Given the description of an element on the screen output the (x, y) to click on. 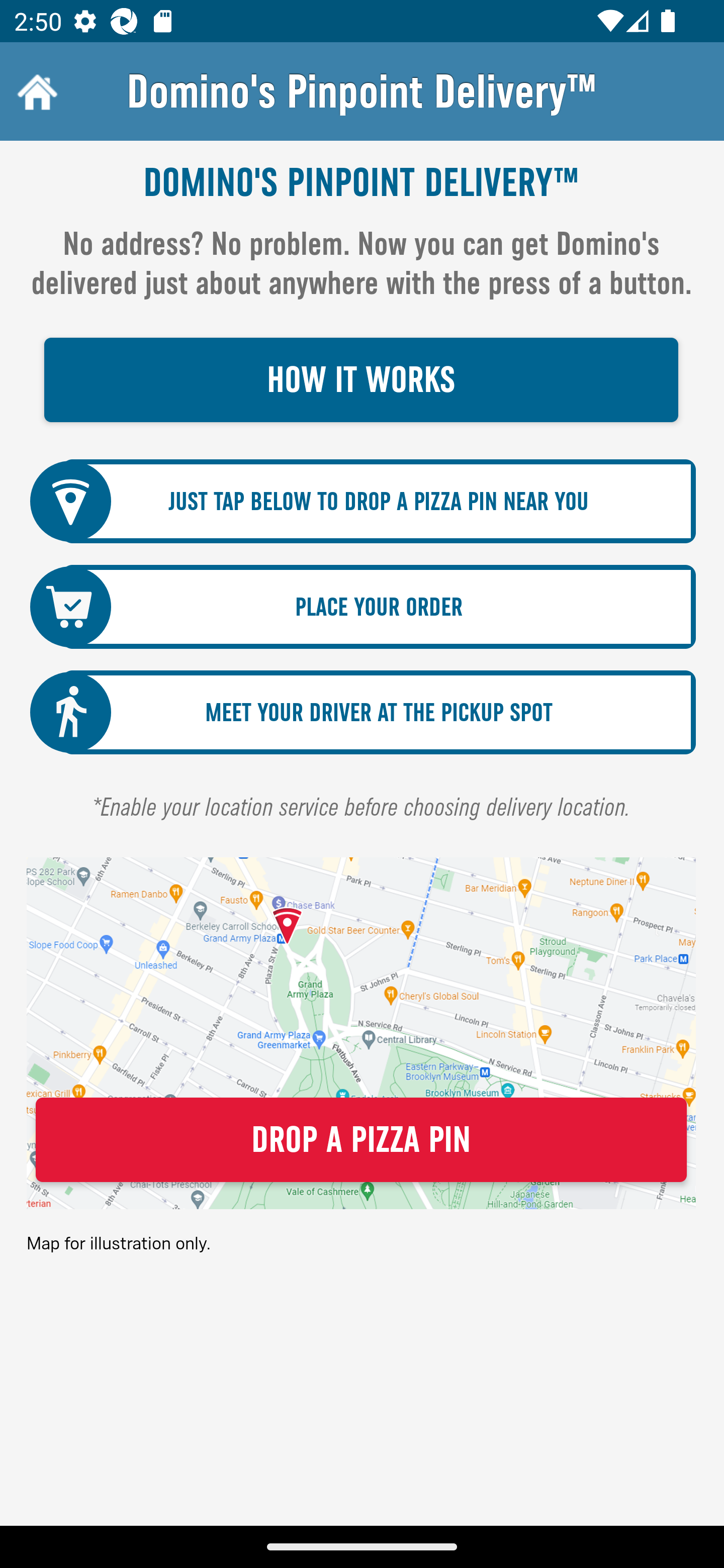
Home (35, 91)
DROP A PIZZA PIN (361, 1139)
